Given the description of an element on the screen output the (x, y) to click on. 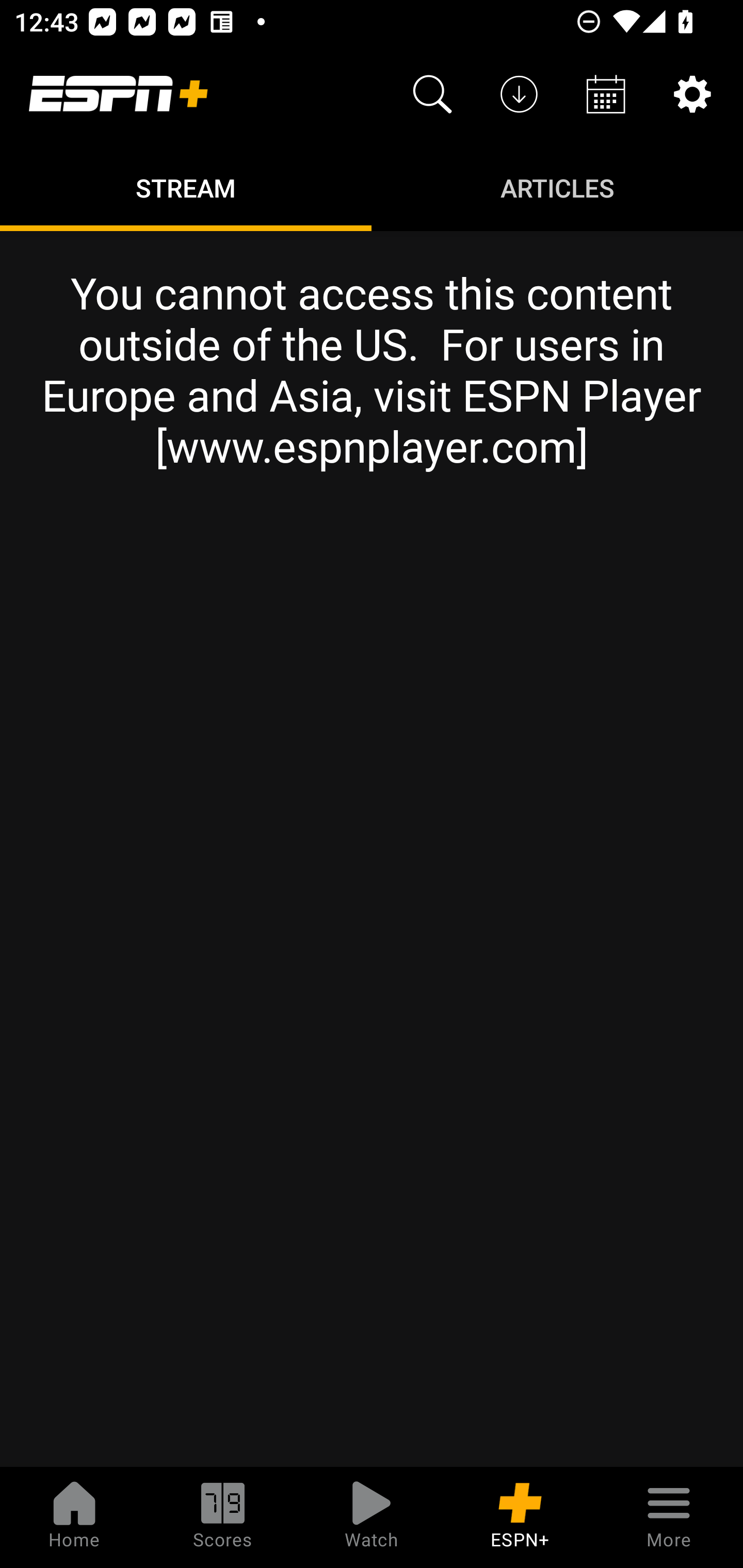
Search (432, 93)
Downloads (518, 93)
Schedule (605, 93)
Settings (692, 93)
Articles ARTICLES (557, 187)
Home (74, 1517)
Scores (222, 1517)
Watch (371, 1517)
More (668, 1517)
